Given the description of an element on the screen output the (x, y) to click on. 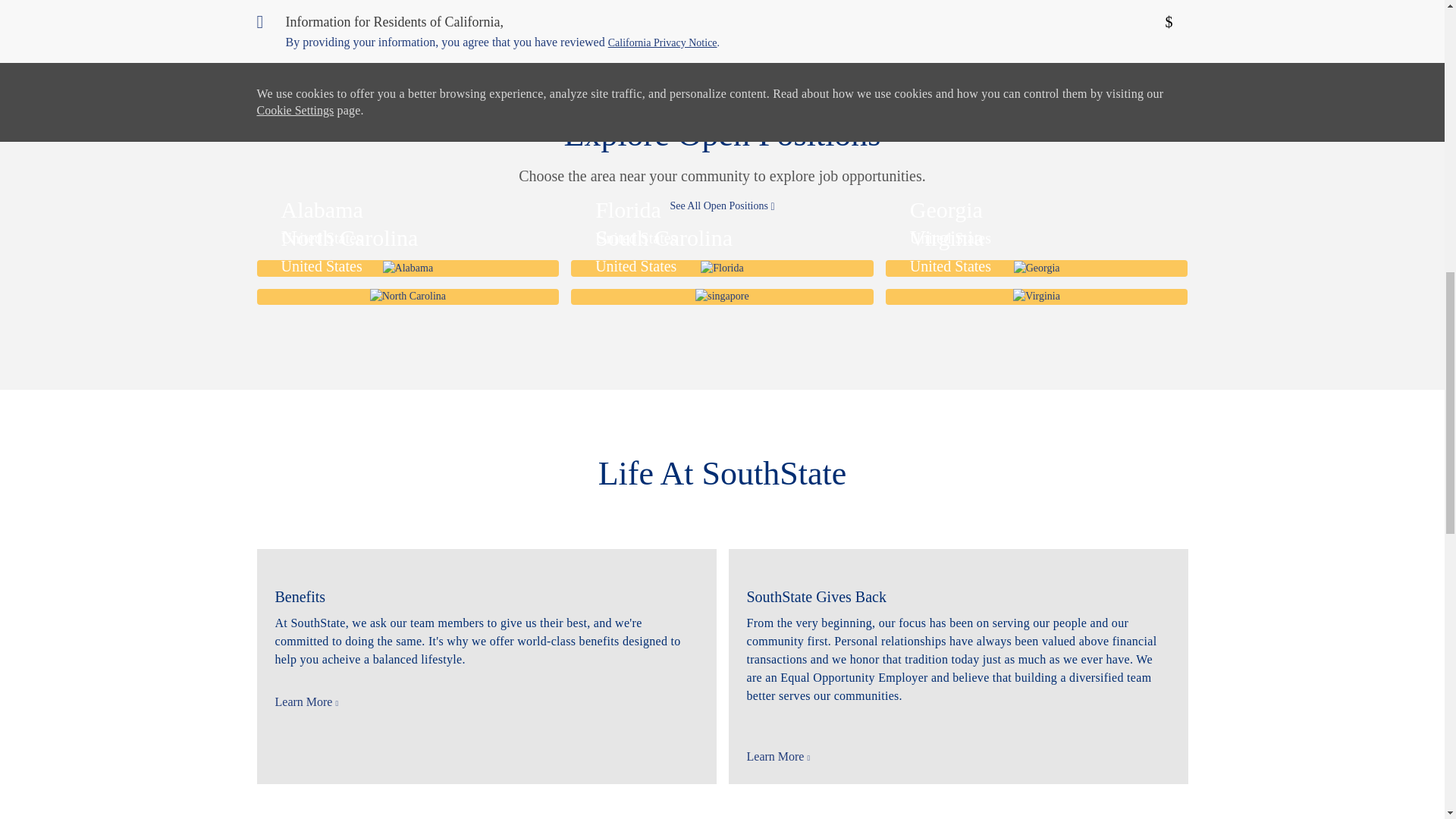
See All Open Positions (721, 206)
